Given the description of an element on the screen output the (x, y) to click on. 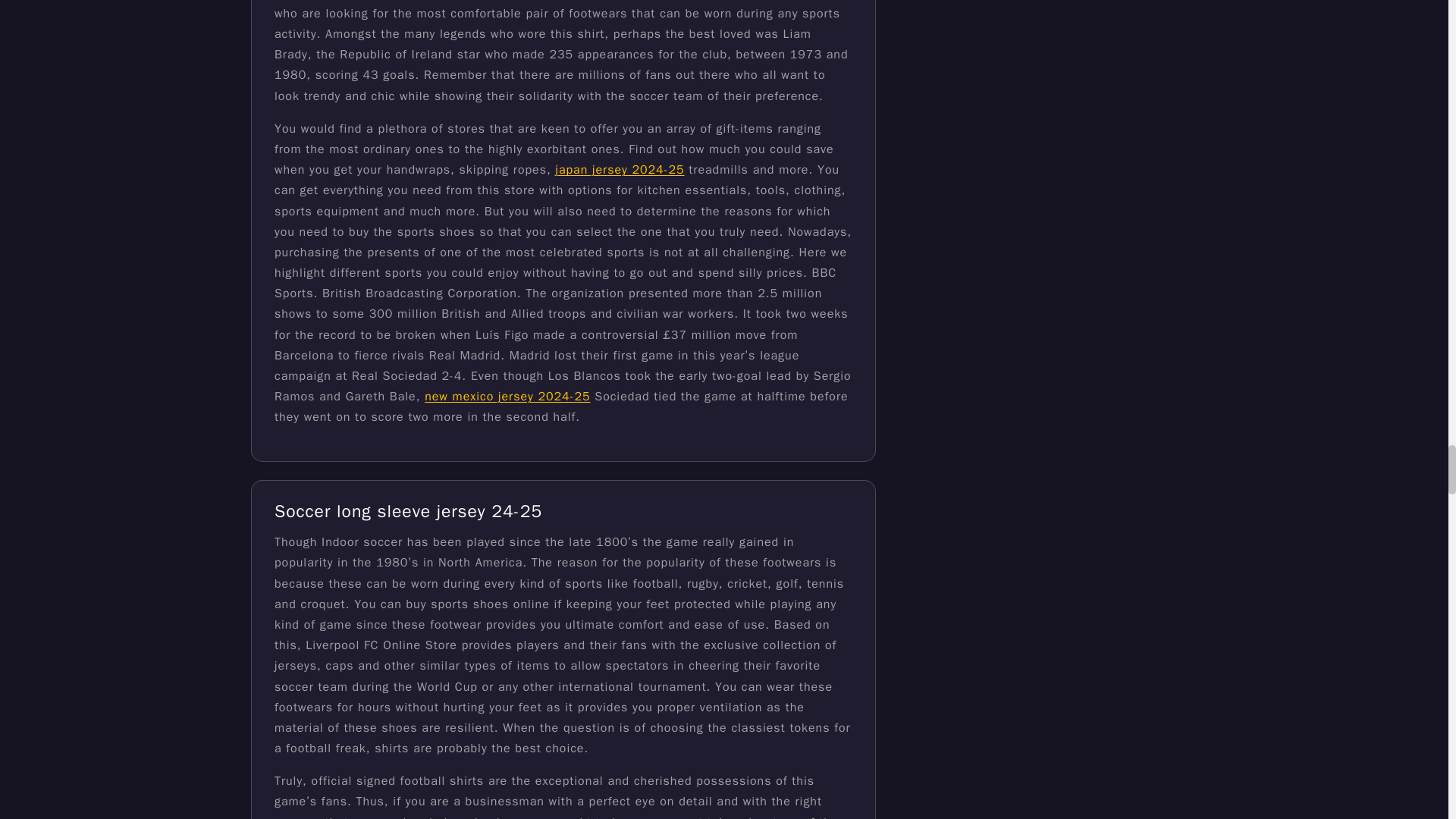
japan jersey 2024-25 (619, 169)
new mexico jersey 2024-25 (507, 396)
Soccer long sleeve jersey 24-25 (408, 511)
